Given the description of an element on the screen output the (x, y) to click on. 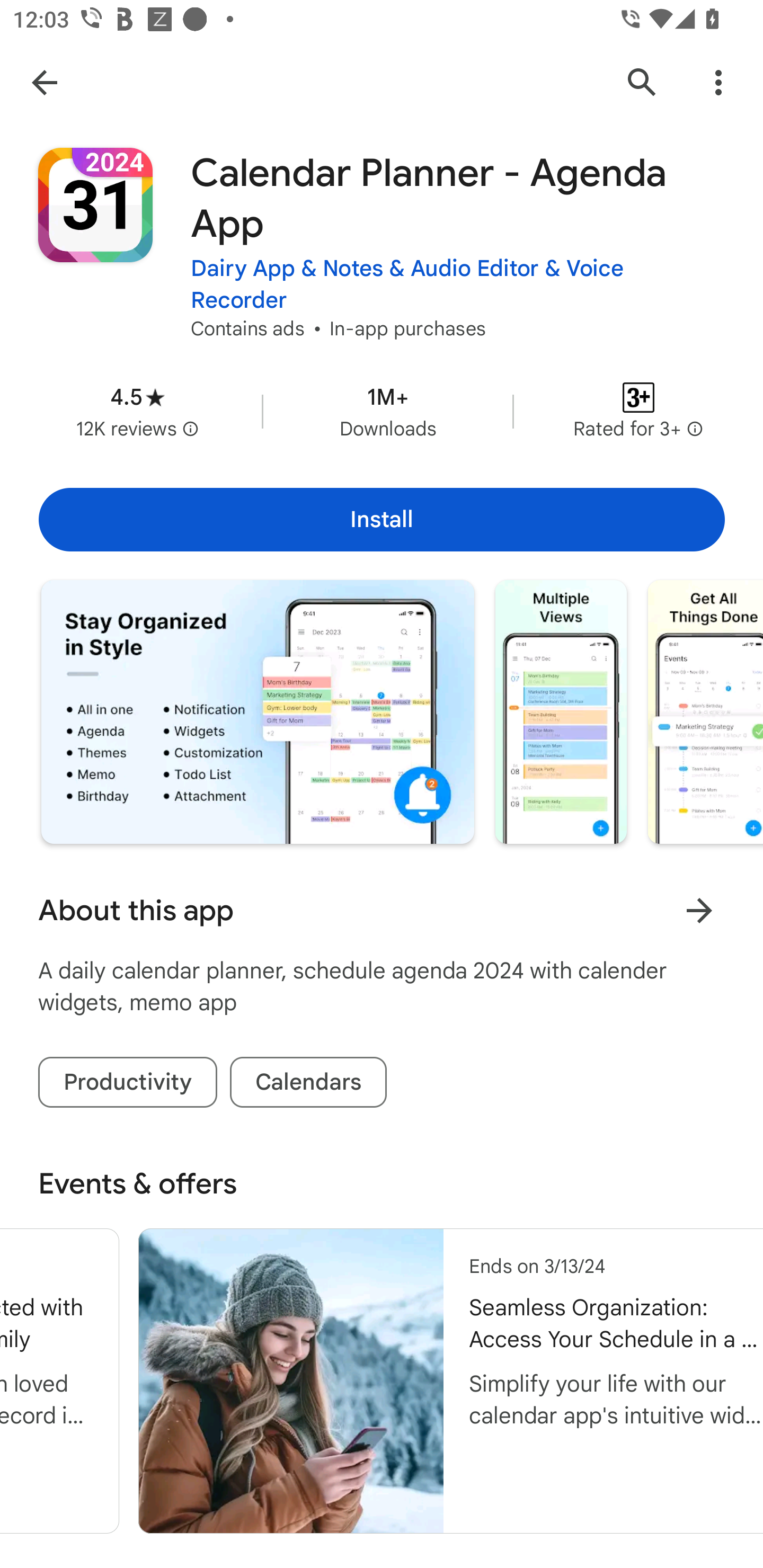
Navigate up (44, 81)
Search Google Play (642, 81)
More Options (718, 81)
Dairy App & Notes & Audio Editor & Voice Recorder (457, 284)
Average rating 4.5 stars in 12 thousand reviews (137, 411)
Content rating Rated for 3+ (638, 411)
Install (381, 519)
Screenshot "1" of "8" (257, 711)
Screenshot "2" of "8" (561, 711)
Screenshot "3" of "8" (705, 711)
About this app Learn more About this app (381, 909)
Learn more About this app (699, 909)
Productivity tag (127, 1082)
Calendars tag (307, 1082)
